Given the description of an element on the screen output the (x, y) to click on. 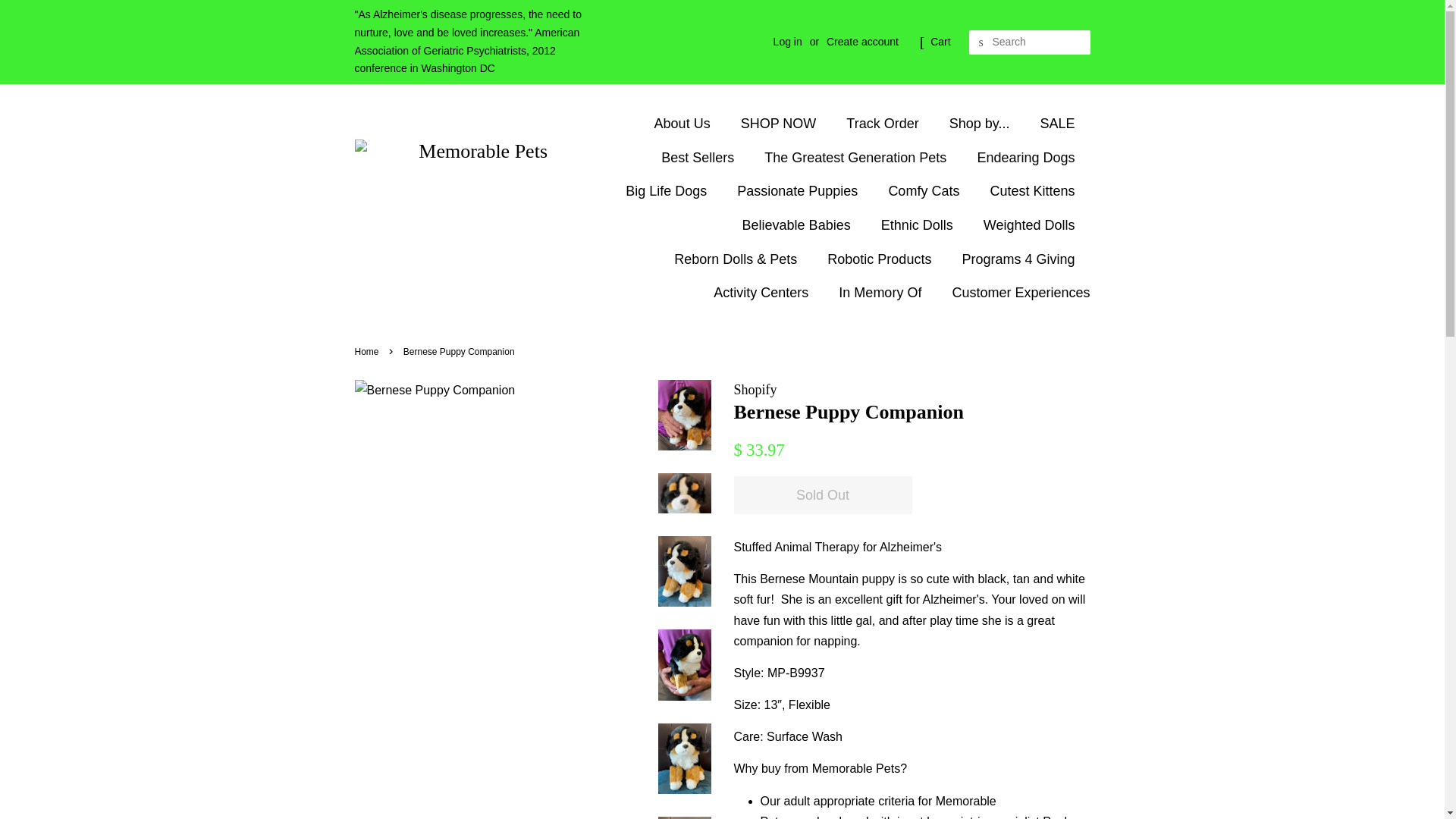
Endearing Dogs (1027, 157)
Log in (787, 41)
The Greatest Generation Pets (856, 157)
Search (980, 42)
Cart (940, 42)
Create account (862, 41)
Back to the frontpage (368, 351)
SALE (1058, 123)
SHOP NOW (780, 123)
About Us (689, 123)
